Given the description of an element on the screen output the (x, y) to click on. 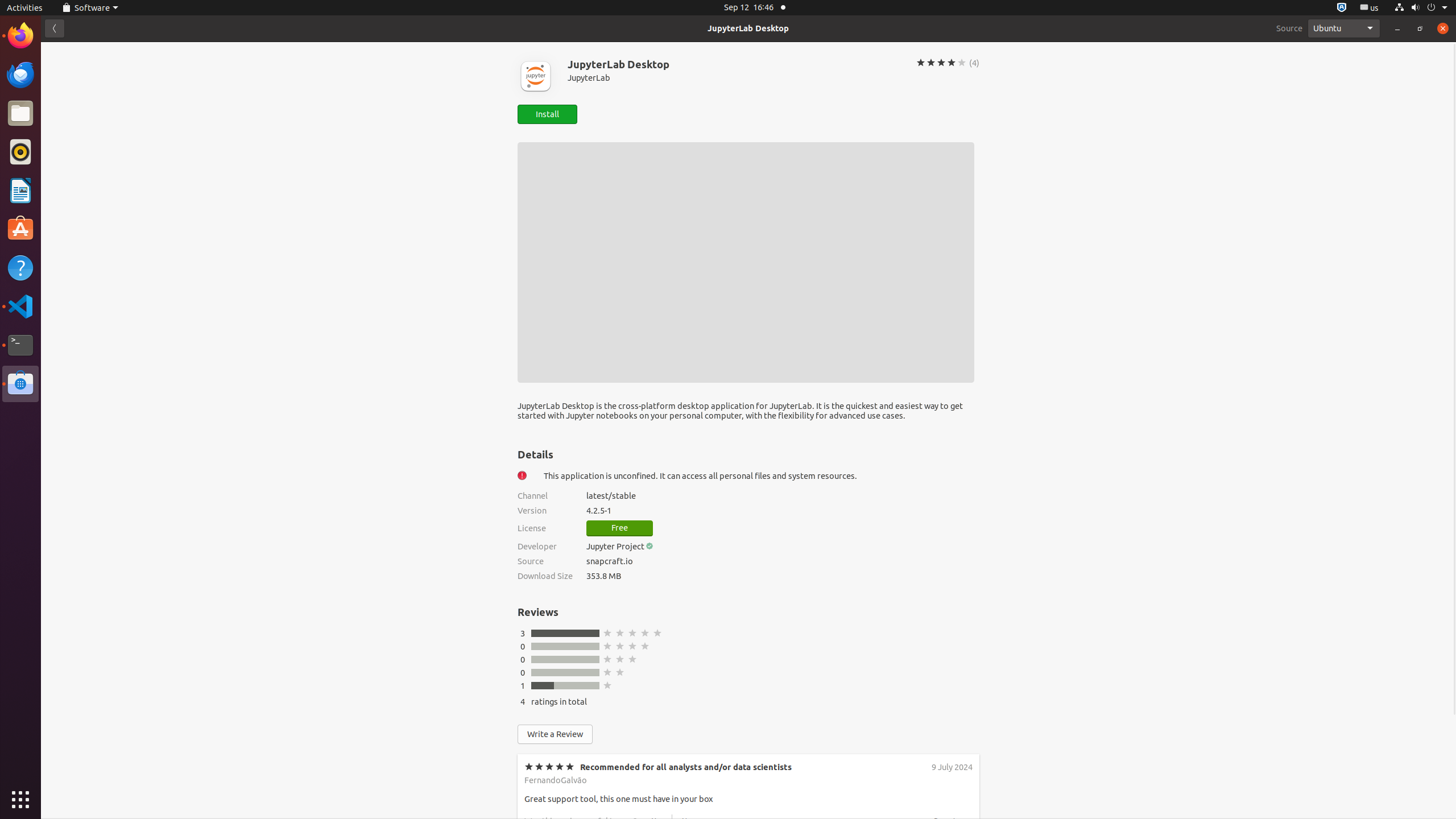
Download Size Element type: label (544, 575)
Firefox Web Browser Element type: push-button (20, 35)
